Given the description of an element on the screen output the (x, y) to click on. 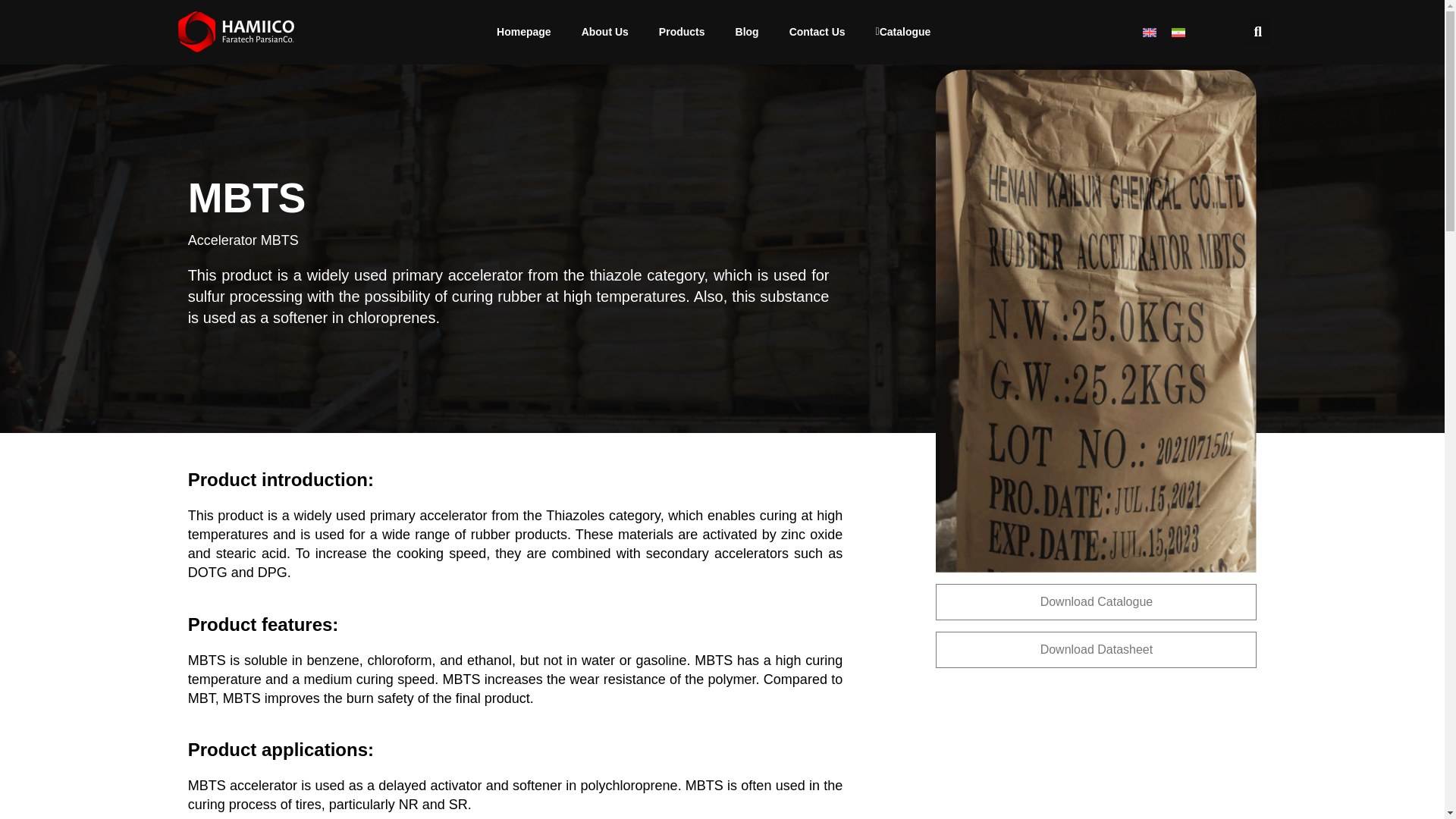
Homepage (523, 31)
About Us (604, 31)
Products (681, 31)
